Given the description of an element on the screen output the (x, y) to click on. 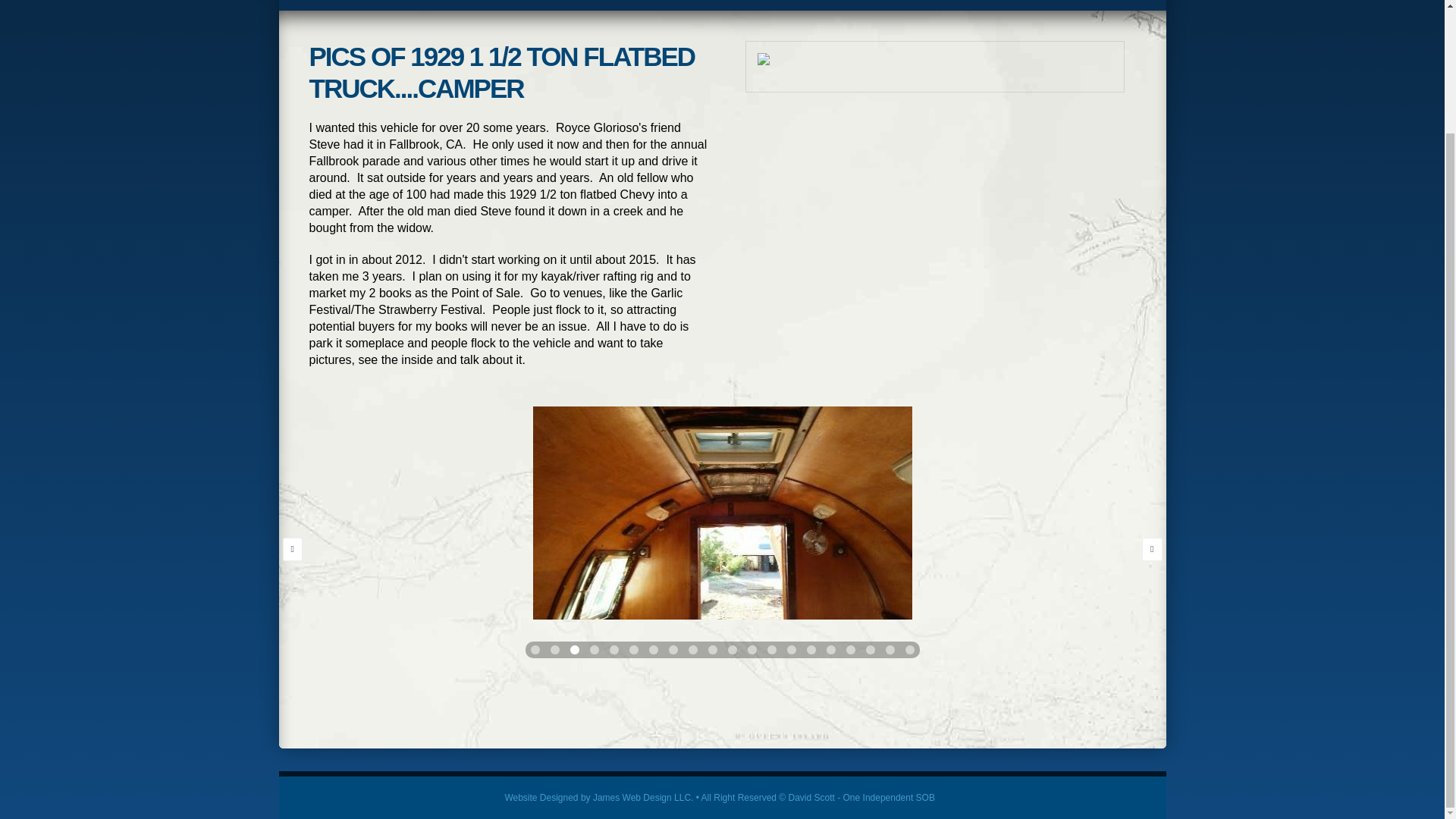
Journals (448, 5)
Books (379, 5)
Videos (585, 5)
About Me (853, 5)
Contact (931, 5)
James Web Design LLC. (643, 797)
Gallery (519, 5)
Projects (776, 5)
Upcoming Trips (678, 5)
Home (319, 5)
